Given the description of an element on the screen output the (x, y) to click on. 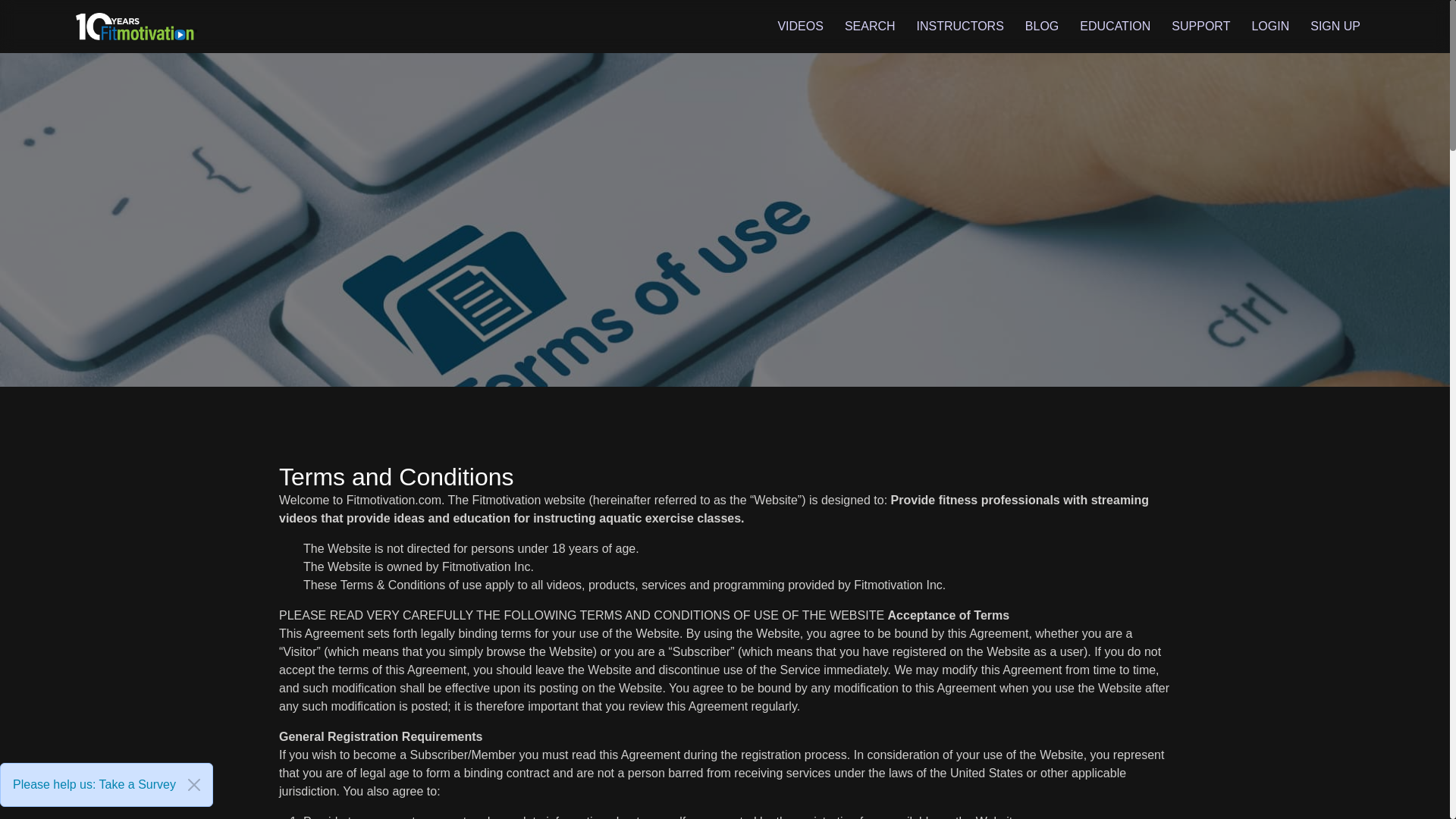
VIDEOS (796, 25)
SUPPORT (1196, 25)
SEARCH (866, 25)
LOGIN (1265, 25)
BLOG (1037, 25)
SIGN UP (1331, 25)
INSTRUCTORS (956, 25)
Please help us: Take a Survey (94, 784)
EDUCATION (1110, 25)
